Given the description of an element on the screen output the (x, y) to click on. 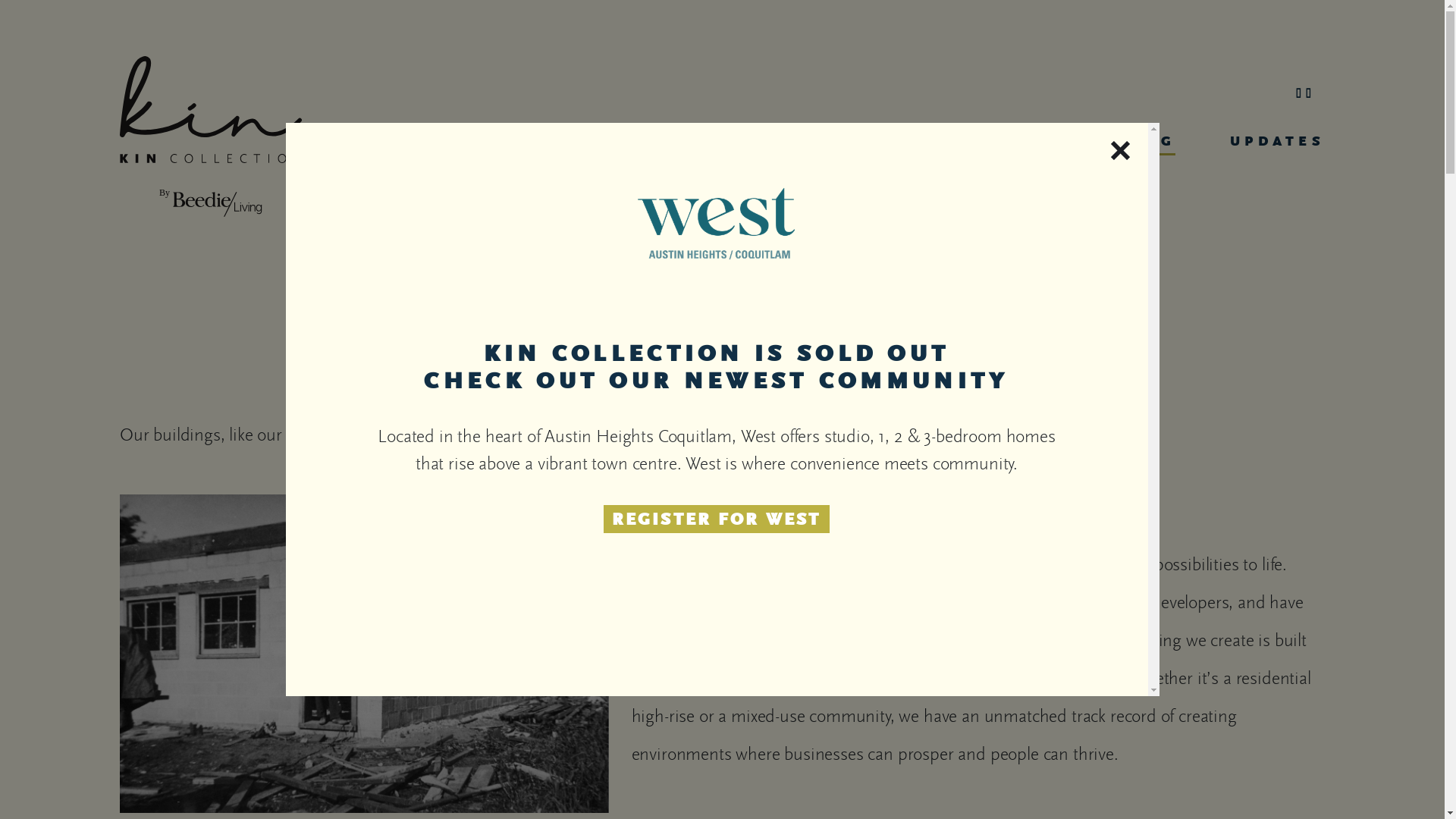
REGISTER FOR WEST Element type: text (715, 519)
UPDATES Element type: text (1277, 143)
BEEDIE LIVING Element type: text (1094, 144)
REGISTER FOR WEST Element type: text (715, 521)
LOCATION Element type: text (905, 143)
HOMES Element type: text (425, 143)
AMENITIES Element type: text (737, 143)
FEATURES Element type: text (570, 143)
